Given the description of an element on the screen output the (x, y) to click on. 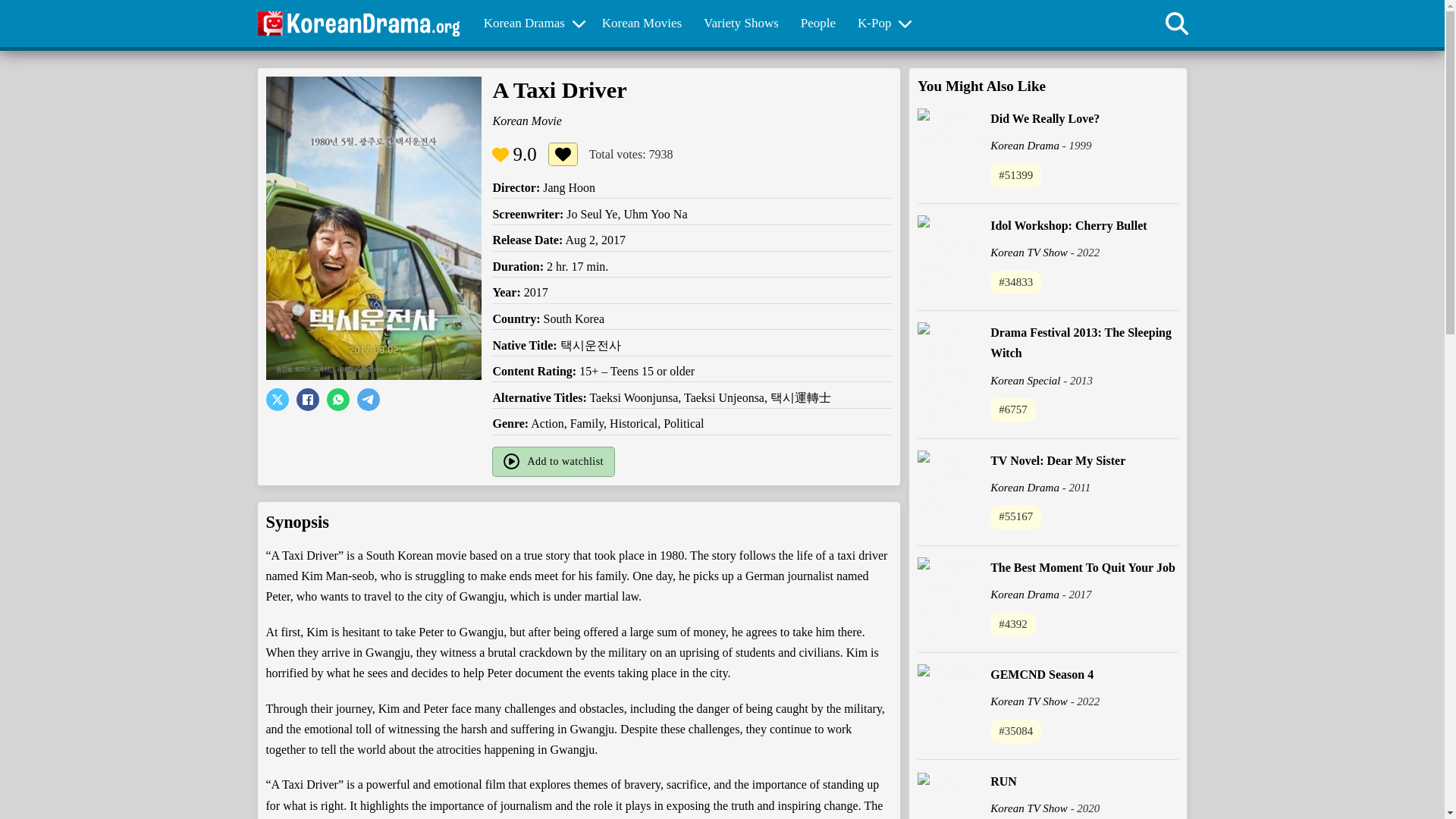
Korean Dramas (524, 24)
Variety Shows (741, 24)
Korean Movies (641, 24)
K-Pop (874, 24)
People (818, 24)
